Given the description of an element on the screen output the (x, y) to click on. 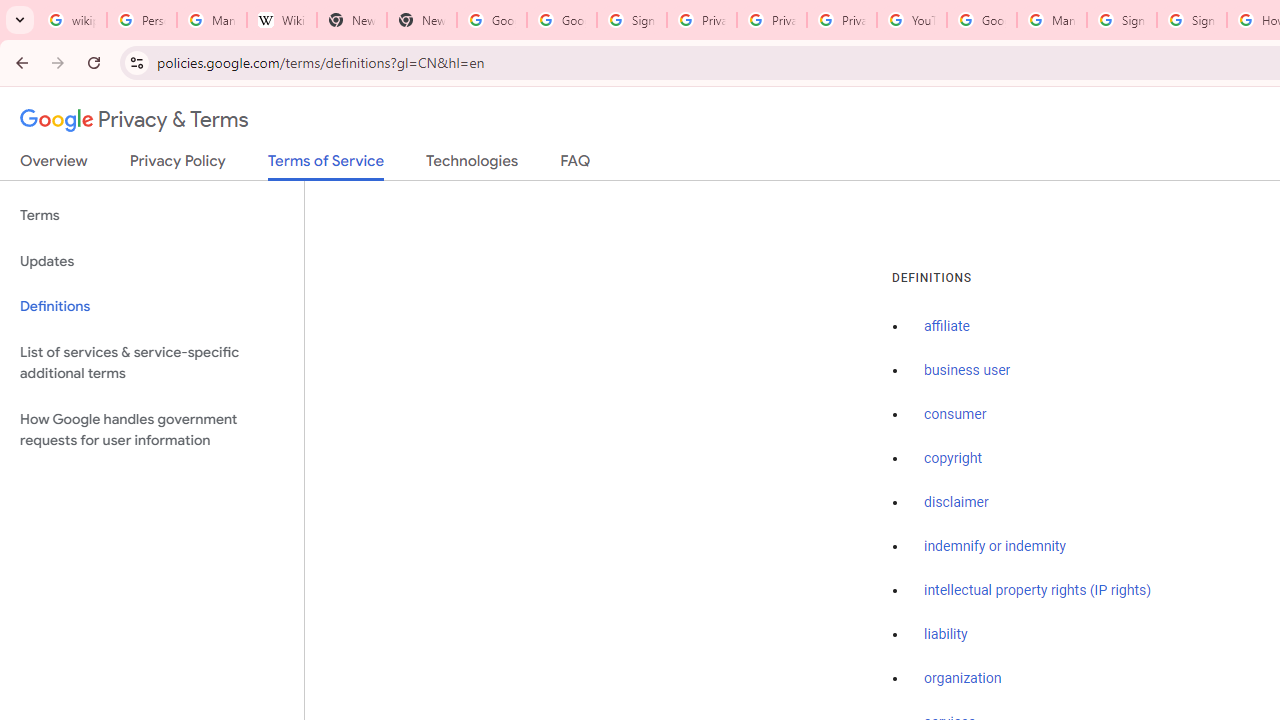
Sign in - Google Accounts (1121, 20)
Sign in - Google Accounts (631, 20)
Google Drive: Sign-in (561, 20)
consumer (955, 415)
disclaimer (956, 502)
liability (945, 634)
